Given the description of an element on the screen output the (x, y) to click on. 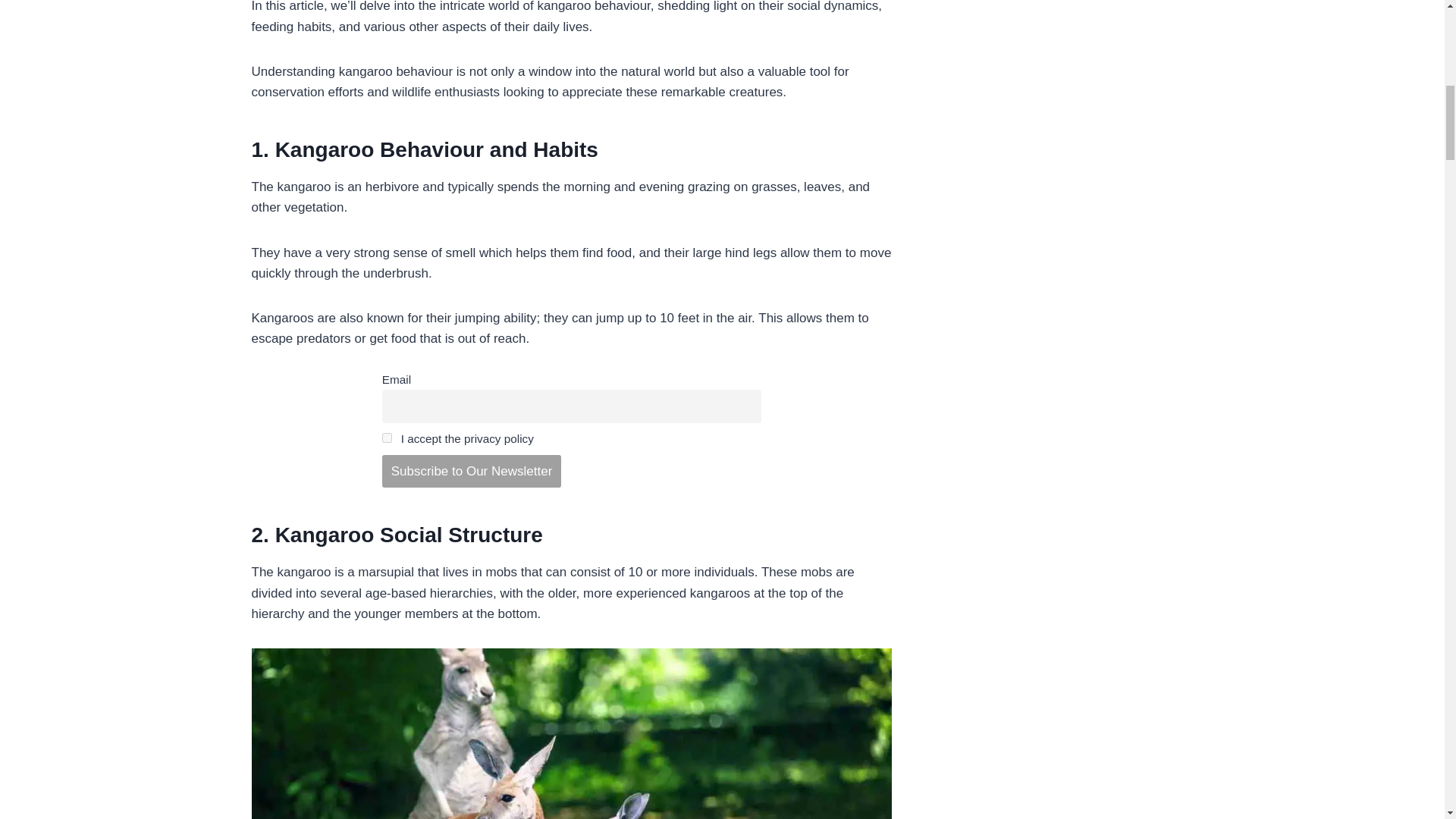
Subscribe to Our Newsletter (470, 471)
Subscribe to Our Newsletter (470, 471)
Behaviour (431, 149)
Social Structure (461, 535)
on (386, 438)
